Given the description of an element on the screen output the (x, y) to click on. 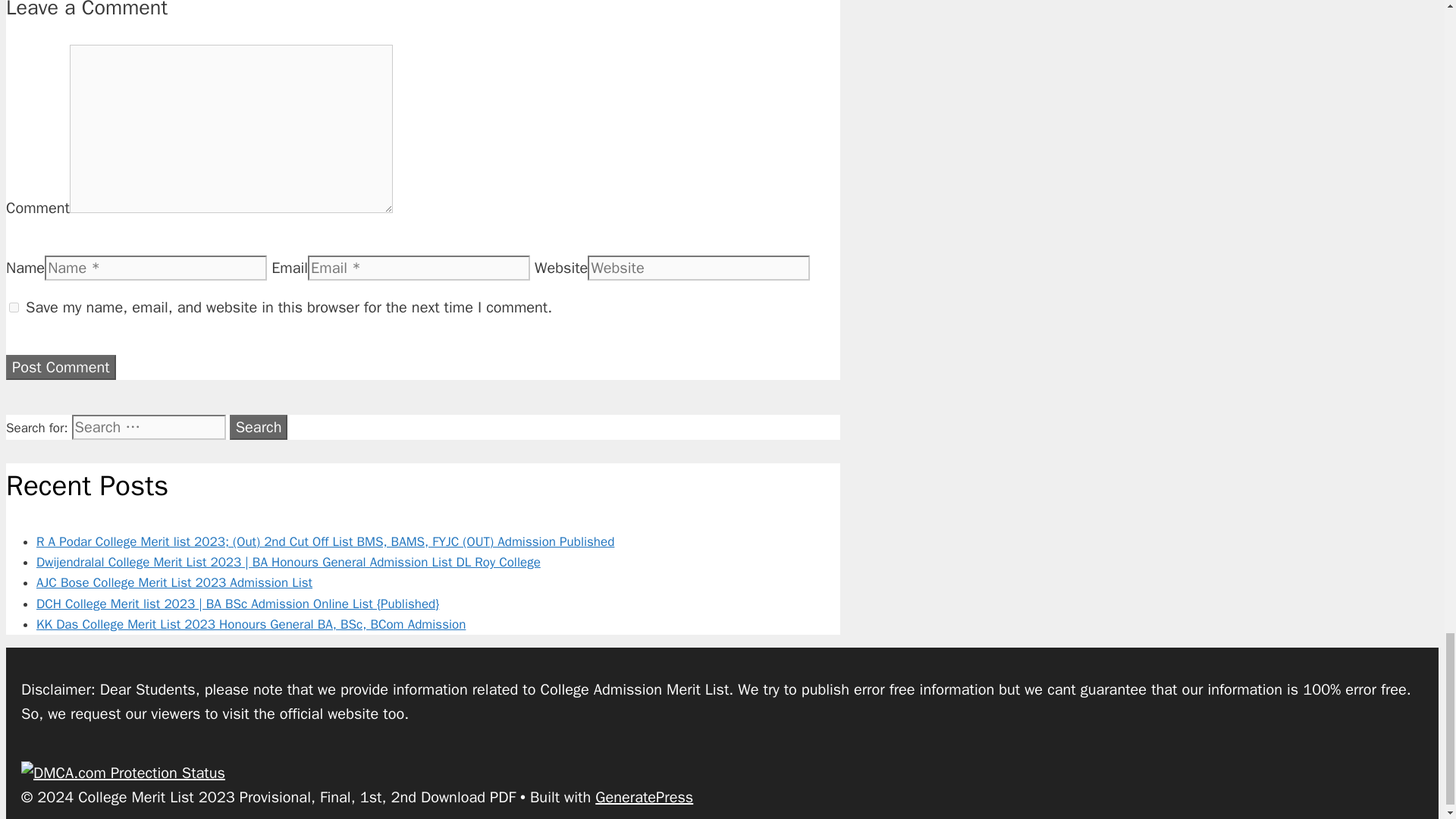
Search (259, 426)
Post Comment (60, 367)
AJC Bose College Merit List 2023 Admission List (174, 582)
DMCA.com Protection Status (123, 772)
GeneratePress (644, 796)
Search (259, 426)
Search (259, 426)
Search for: (148, 426)
Post Comment (60, 367)
yes (13, 307)
